Given the description of an element on the screen output the (x, y) to click on. 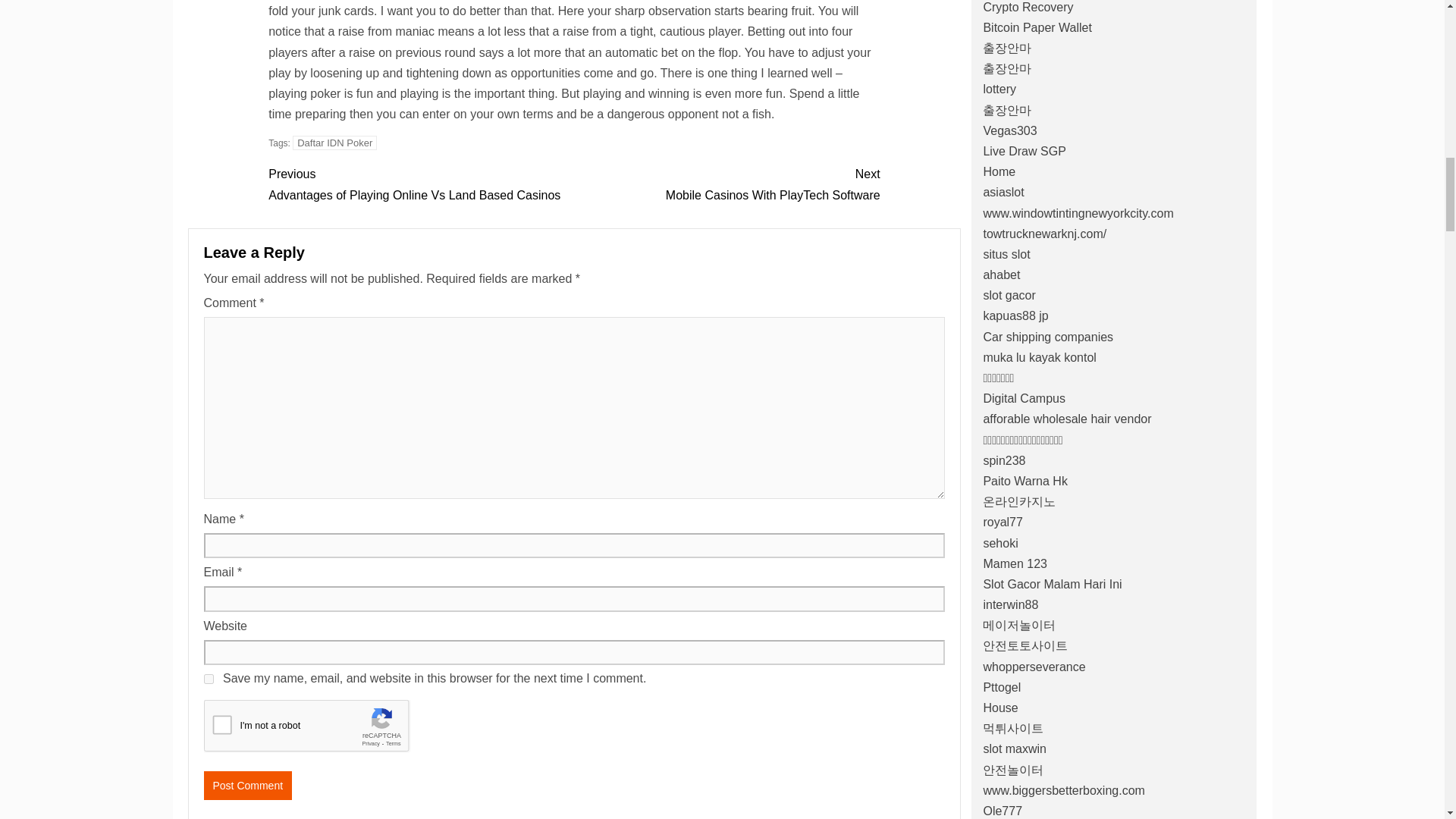
Daftar IDN Poker (334, 142)
yes (207, 678)
Post Comment (247, 785)
reCAPTCHA (318, 729)
Post Comment (247, 785)
